Given the description of an element on the screen output the (x, y) to click on. 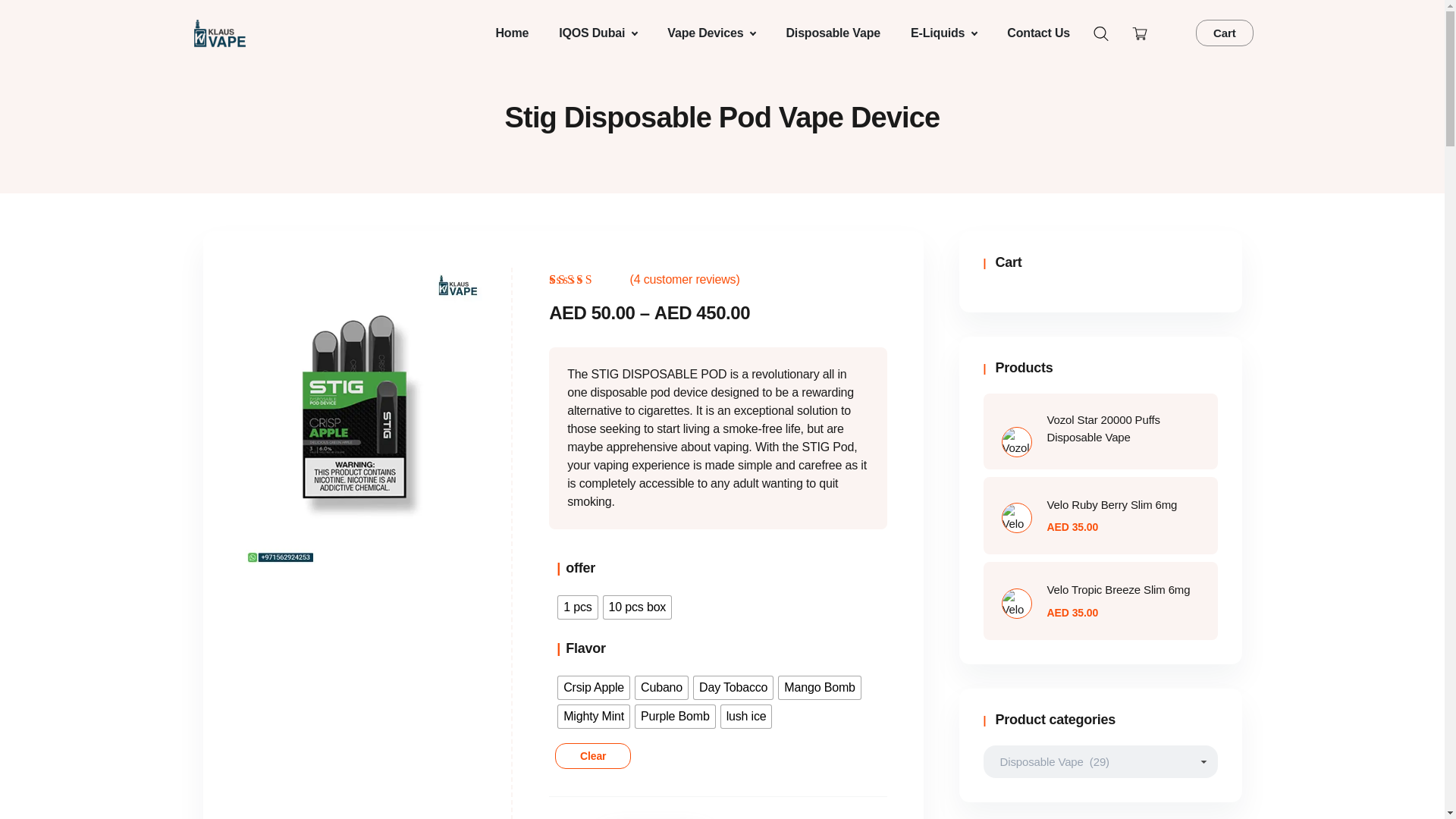
Purple Bomb (674, 716)
Day Tobacco (733, 687)
Mighty Mint (592, 716)
Contact Us (1037, 32)
Cart (1223, 32)
lush ice (745, 716)
Vape Devices (711, 32)
Disposable Vape (832, 32)
Home (511, 32)
1 pcs (576, 607)
